Given the description of an element on the screen output the (x, y) to click on. 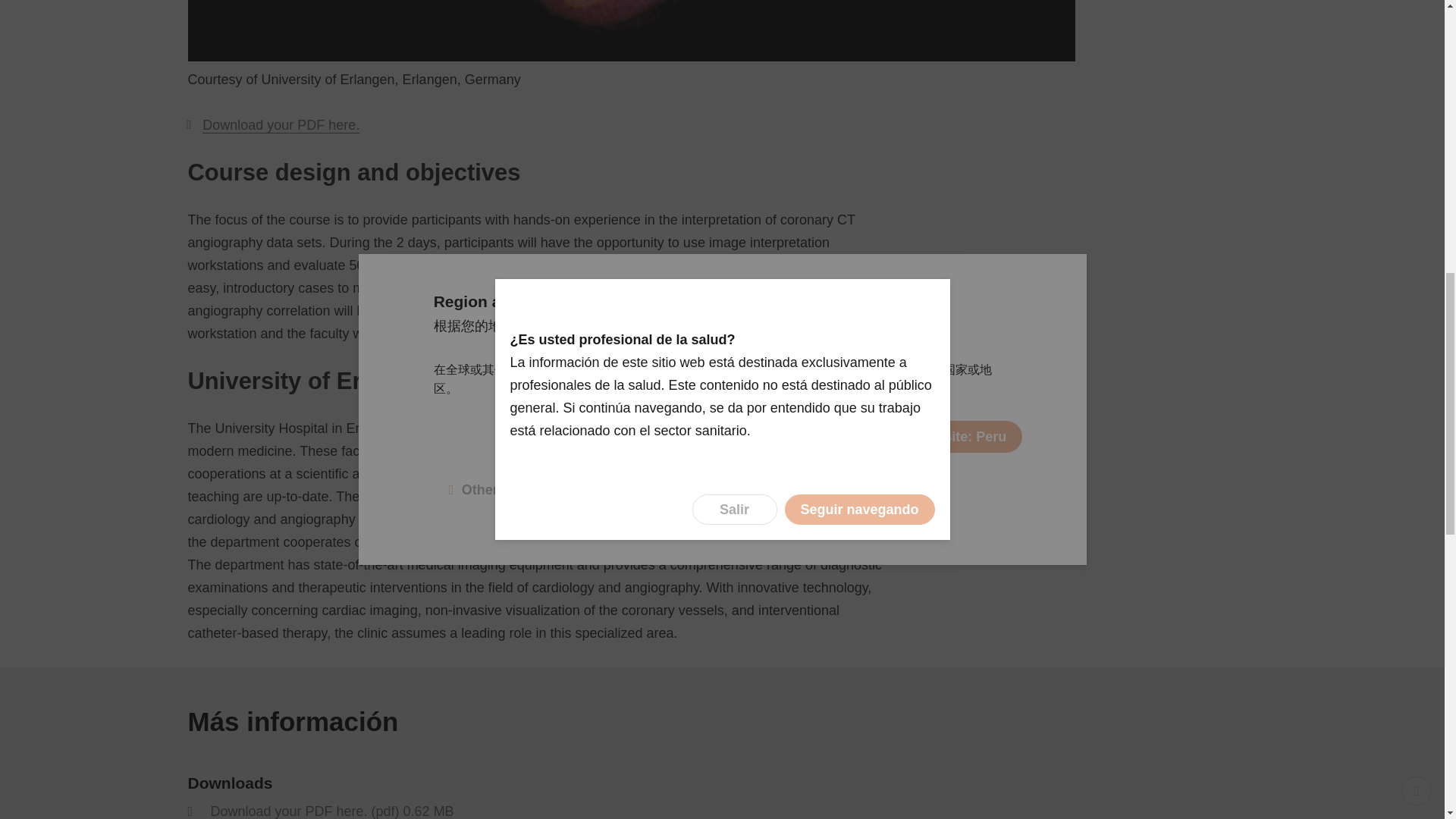
Download your PDF here. (280, 125)
